Given the description of an element on the screen output the (x, y) to click on. 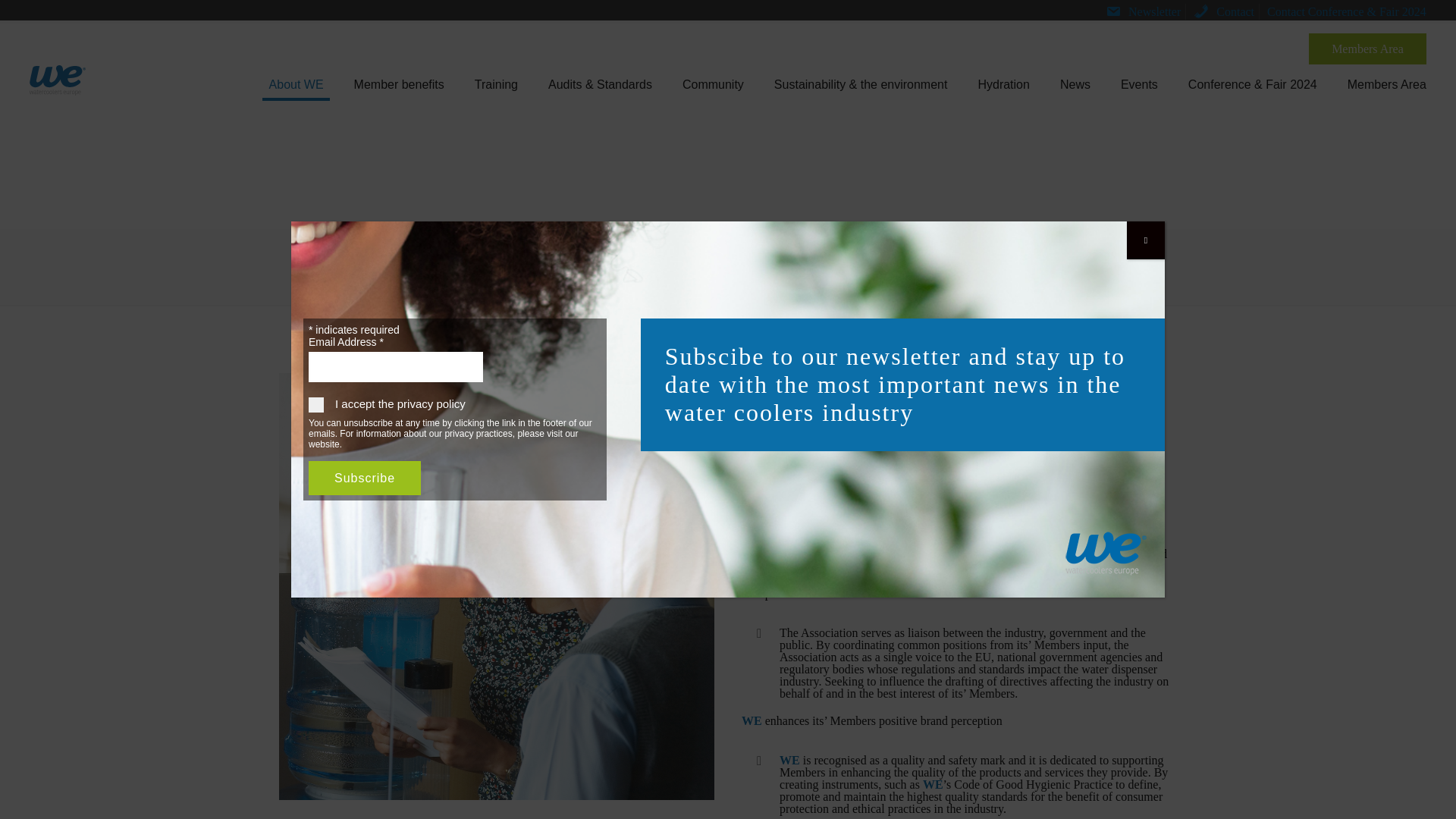
About WE (296, 81)
Members Area (1367, 48)
Events (1139, 81)
Contact (1223, 11)
Hydration (1002, 81)
Community (712, 81)
Member benefits (399, 81)
News (1075, 81)
Watercoolers Europe (57, 75)
Training (496, 81)
Subscribe (364, 478)
Newsletter (1142, 11)
Members Area (1386, 81)
